Given the description of an element on the screen output the (x, y) to click on. 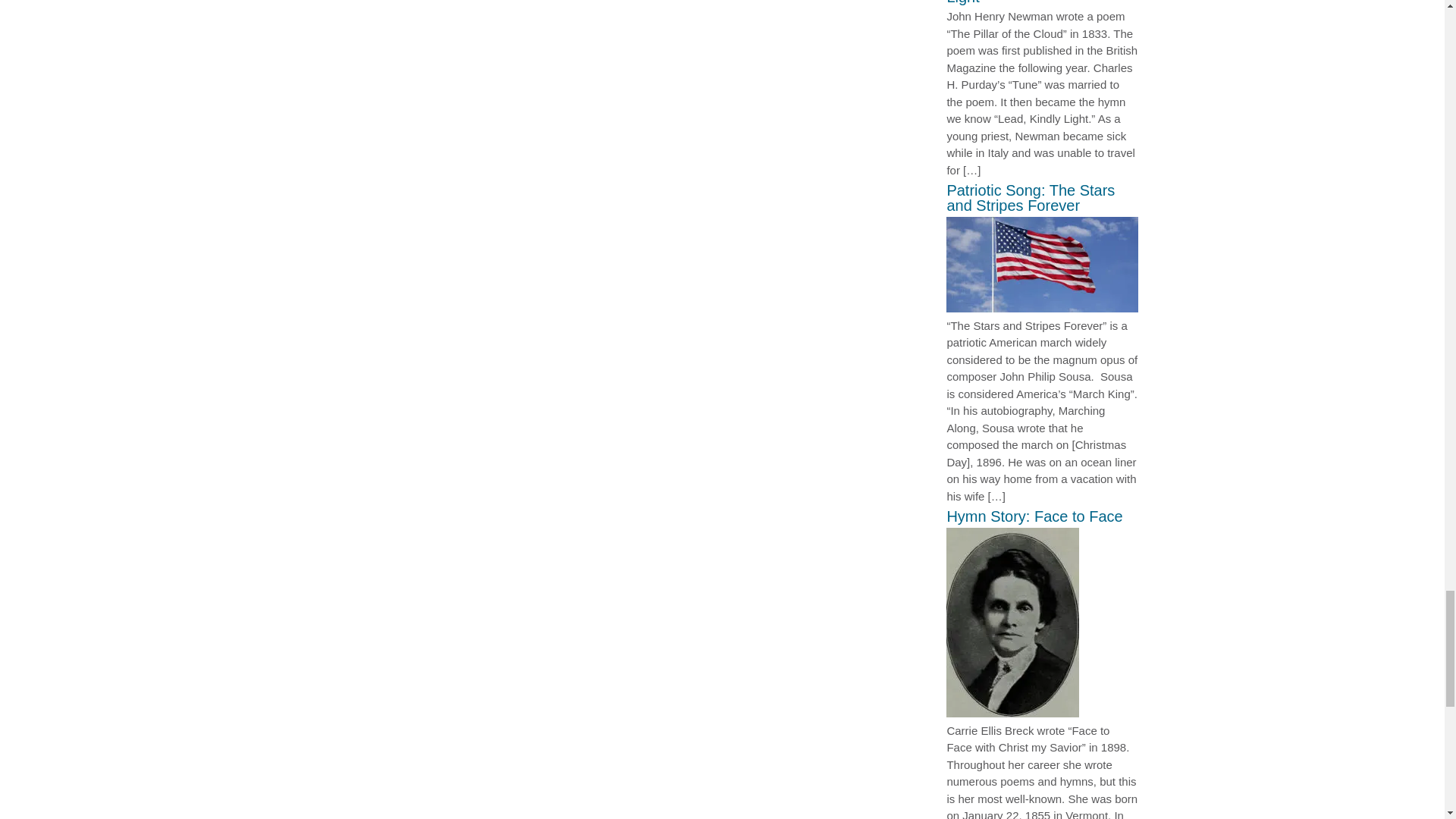
Hymn Story: Face to Face (1012, 712)
Patriotic Song: The Stars and Stripes Forever (1041, 308)
